Given the description of an element on the screen output the (x, y) to click on. 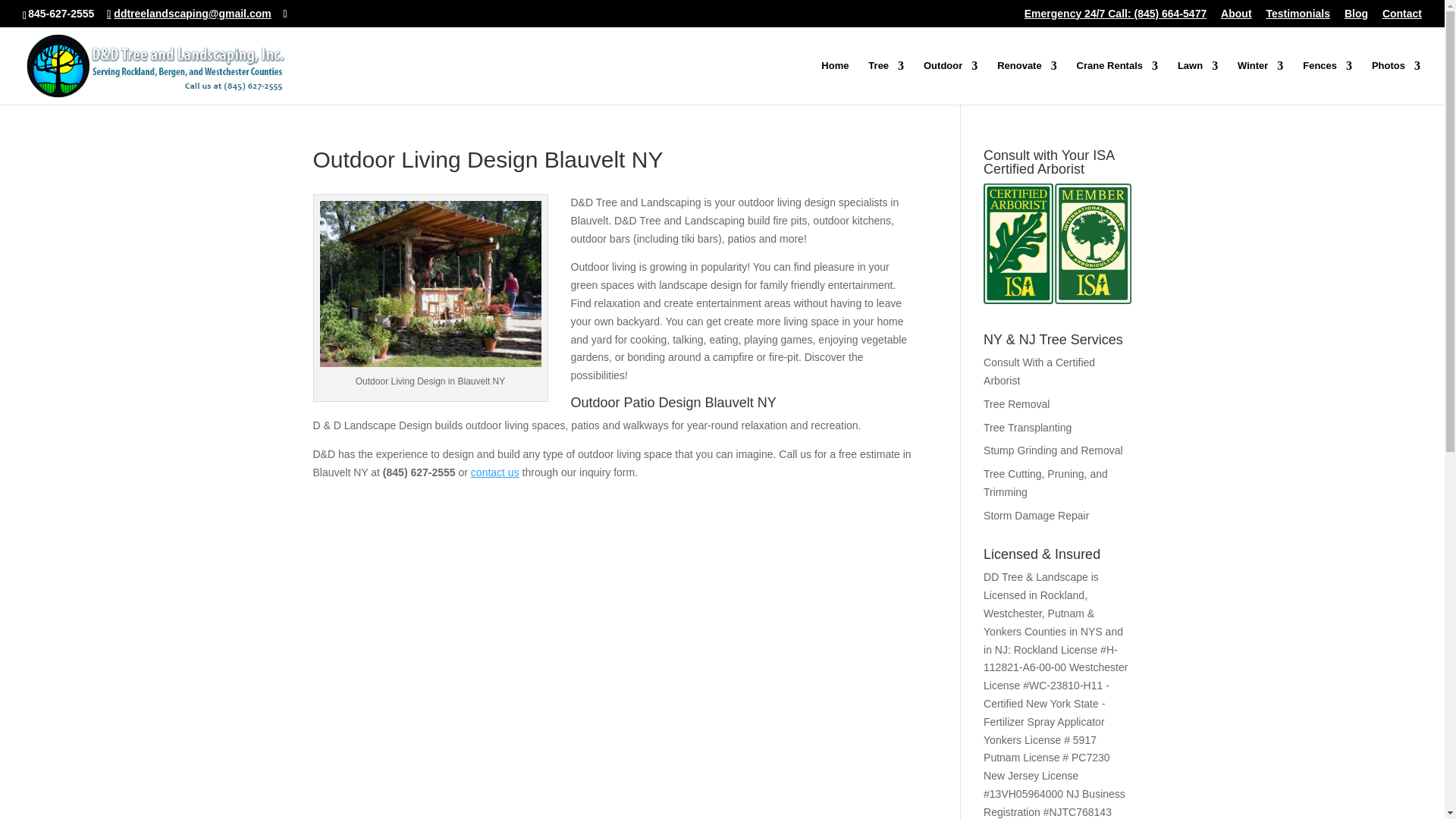
tree removal services in NY and NJ (1016, 404)
Renovate (1027, 82)
Contact Us (494, 472)
Crane Rentals (1117, 82)
Outdoor (949, 82)
Lawn (1197, 82)
Testimonials (1297, 16)
outdoor living companies nj and ny (430, 283)
About (1235, 16)
consult with our professional arborists (1039, 371)
Blog (1355, 16)
Contact (1401, 16)
